Given the description of an element on the screen output the (x, y) to click on. 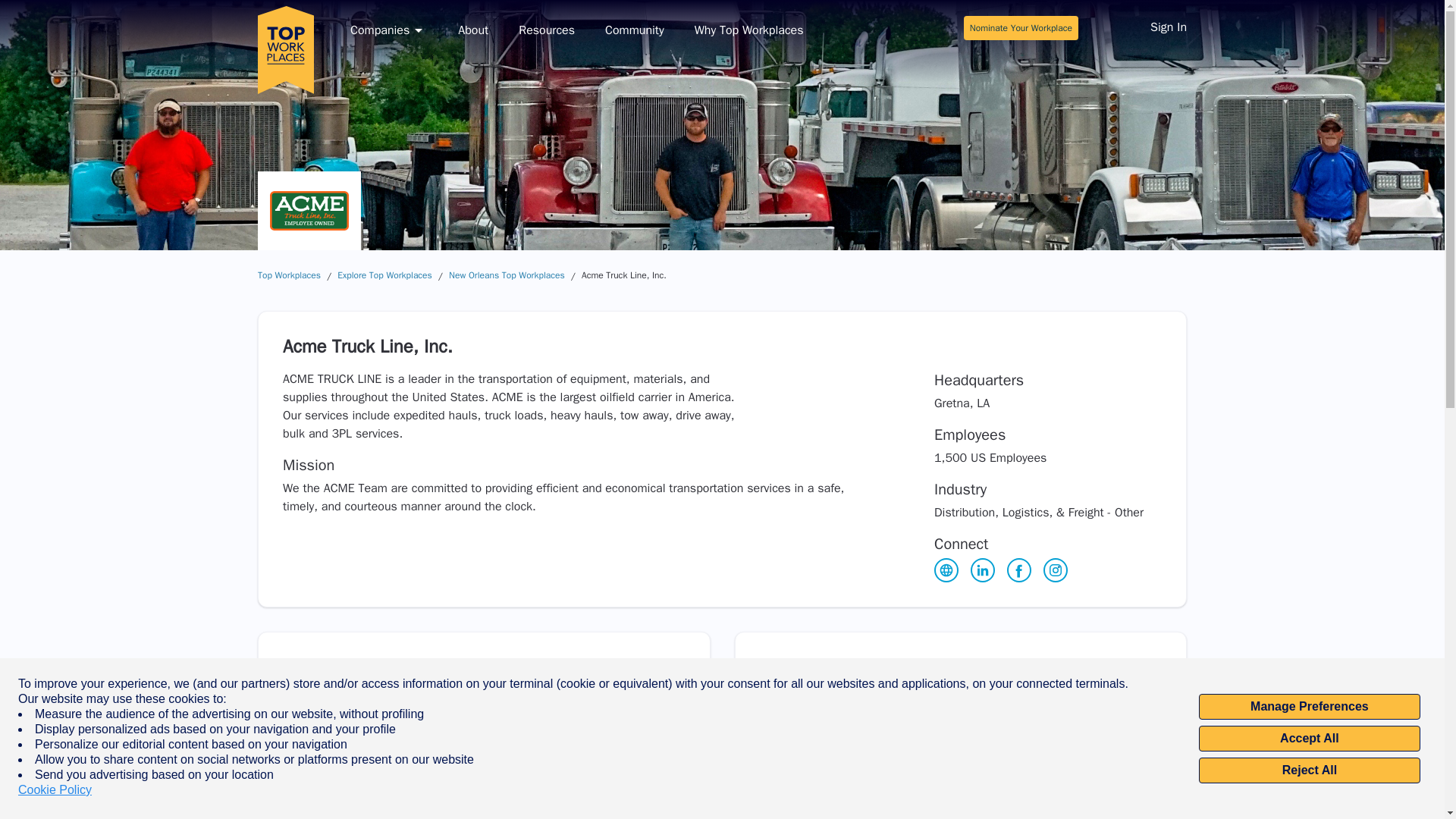
Reject All (1309, 769)
Nominate Your Workplace (1020, 27)
Top Workplaces (288, 275)
About (472, 30)
Companies (389, 30)
Manage Preferences (1309, 706)
Why Top Workplaces (748, 30)
New Orleans Top Workplaces (506, 275)
Sign In (1168, 28)
Accept All (1309, 738)
Resources (546, 30)
Explore Top Workplaces (384, 275)
Cookie Policy (54, 789)
Community (634, 30)
